Given the description of an element on the screen output the (x, y) to click on. 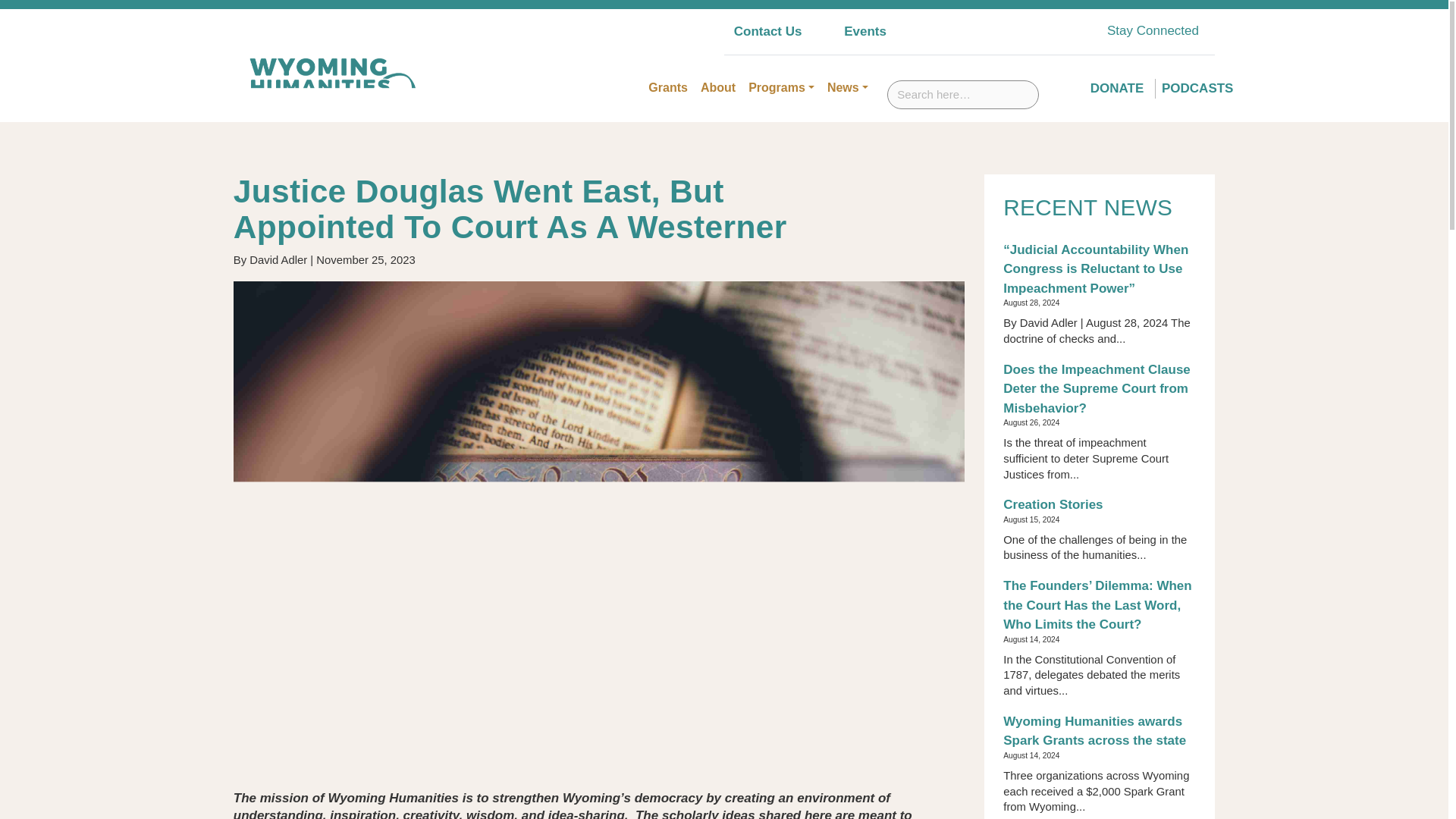
Grants (668, 87)
About (717, 87)
Programs (781, 87)
PODCASTS (1197, 88)
Contact Us (767, 31)
Search (1057, 82)
Search for: (962, 94)
DONATE (1117, 88)
Events (865, 31)
News (848, 87)
